Given the description of an element on the screen output the (x, y) to click on. 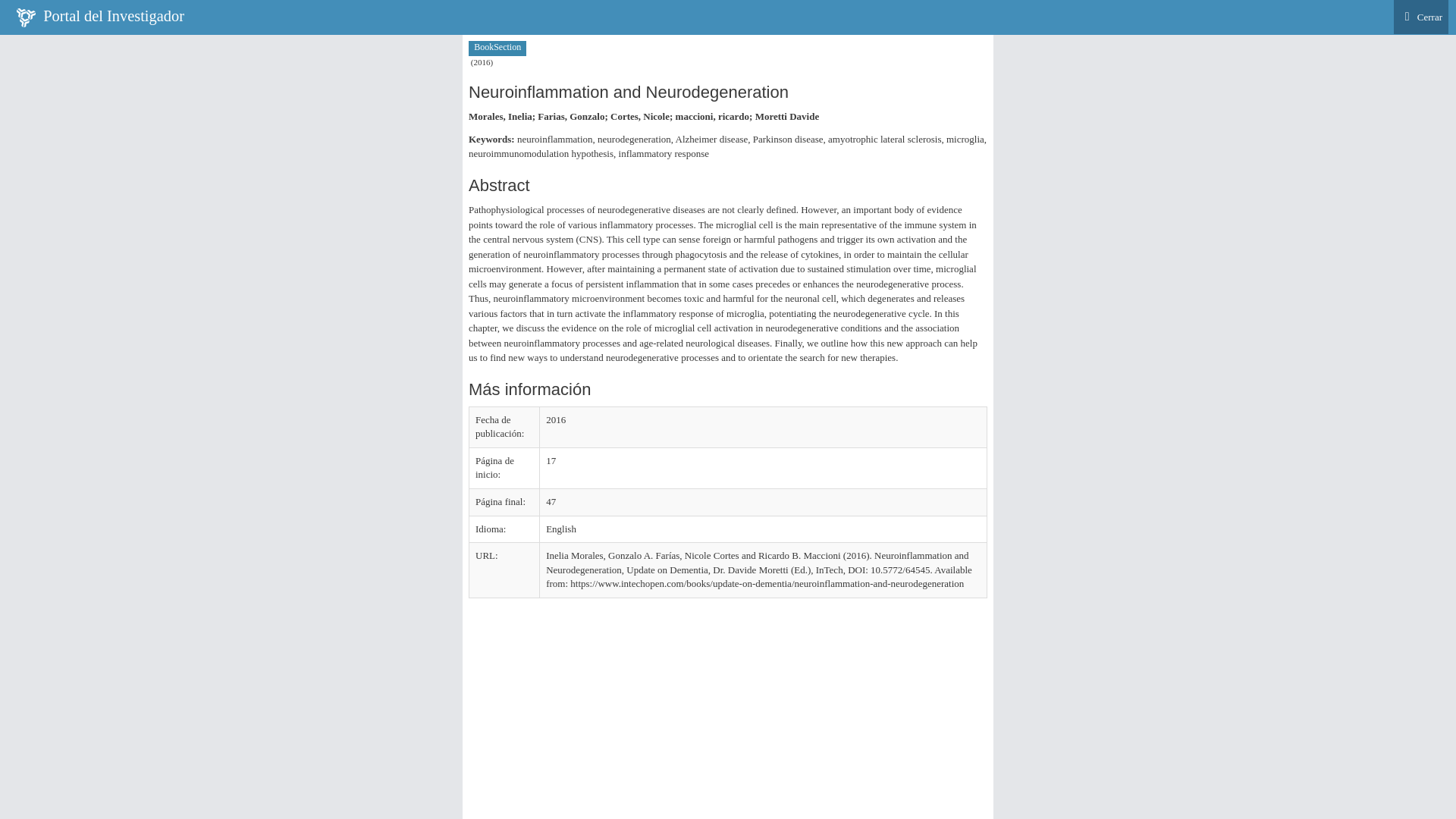
Cerrar (1420, 17)
 Portal del Investigador (100, 17)
